Given the description of an element on the screen output the (x, y) to click on. 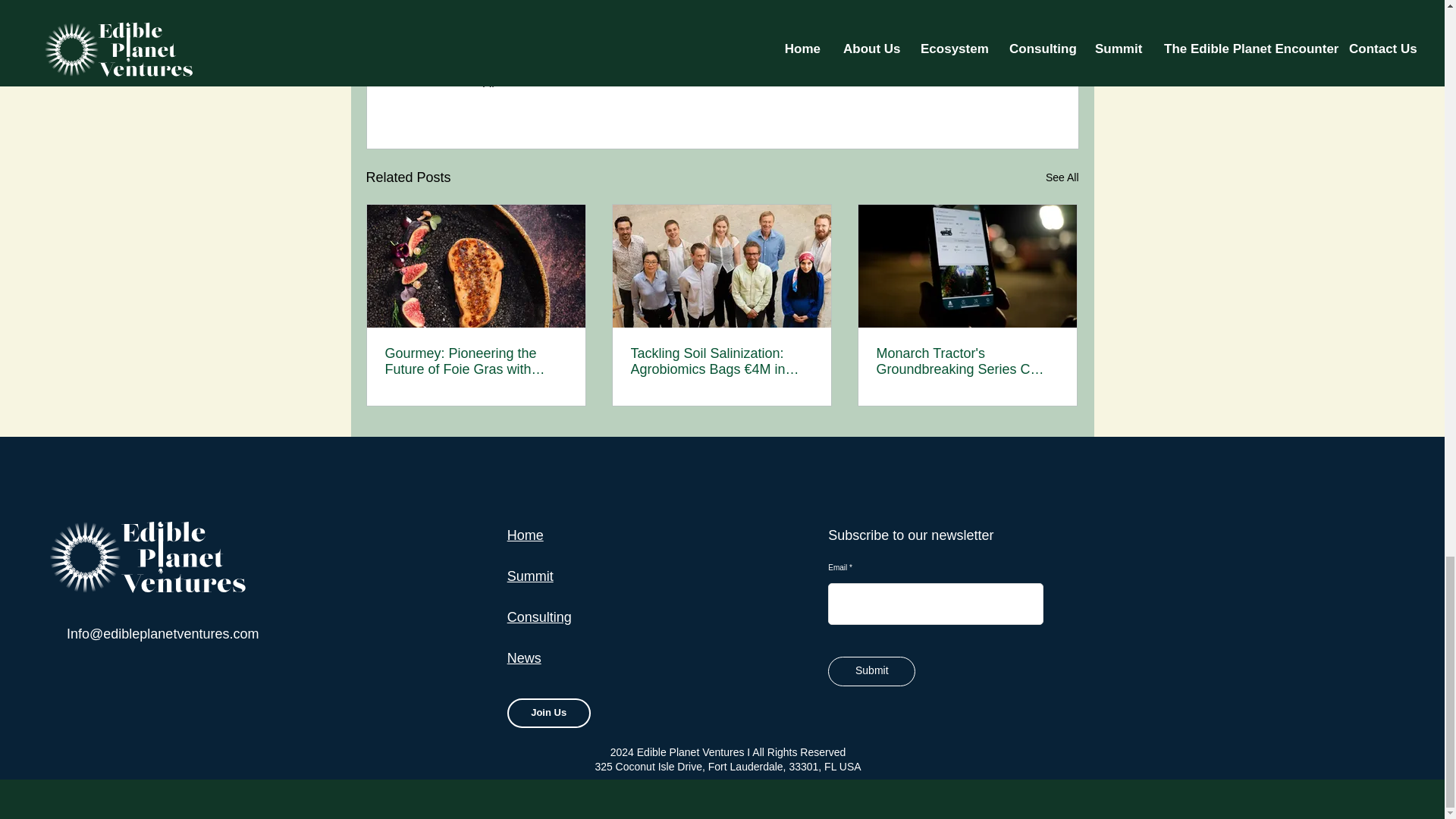
See All (1061, 178)
Investments (850, 79)
Investments (469, 26)
agtech (524, 26)
AgTech (788, 79)
digitalization (647, 26)
robotics (704, 26)
sustainability (579, 26)
